Given the description of an element on the screen output the (x, y) to click on. 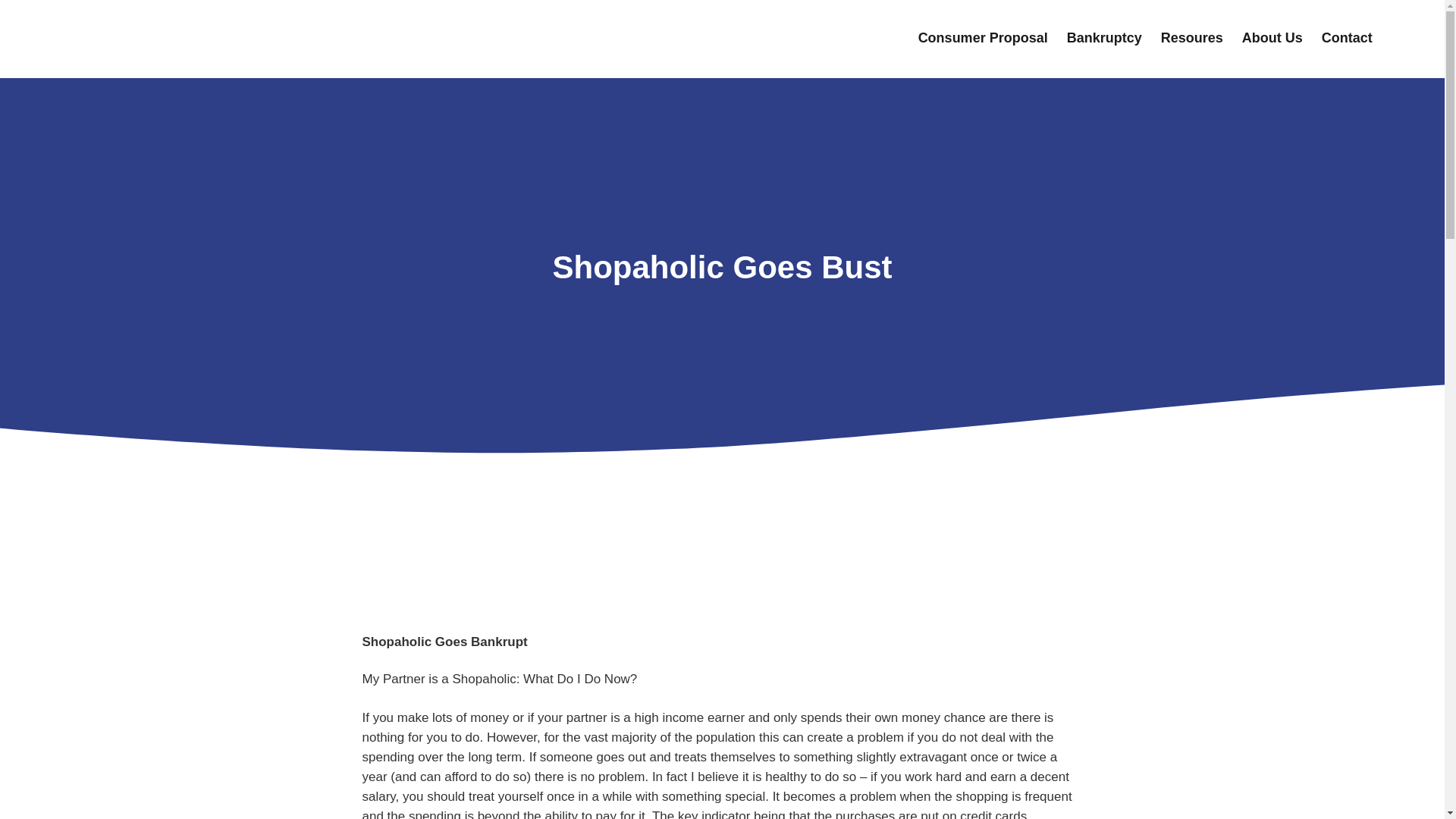
About Us (1272, 37)
Consumer Proposal (983, 37)
Contact (1347, 37)
Resoures (1191, 37)
Bankruptcy (1104, 37)
